Given the description of an element on the screen output the (x, y) to click on. 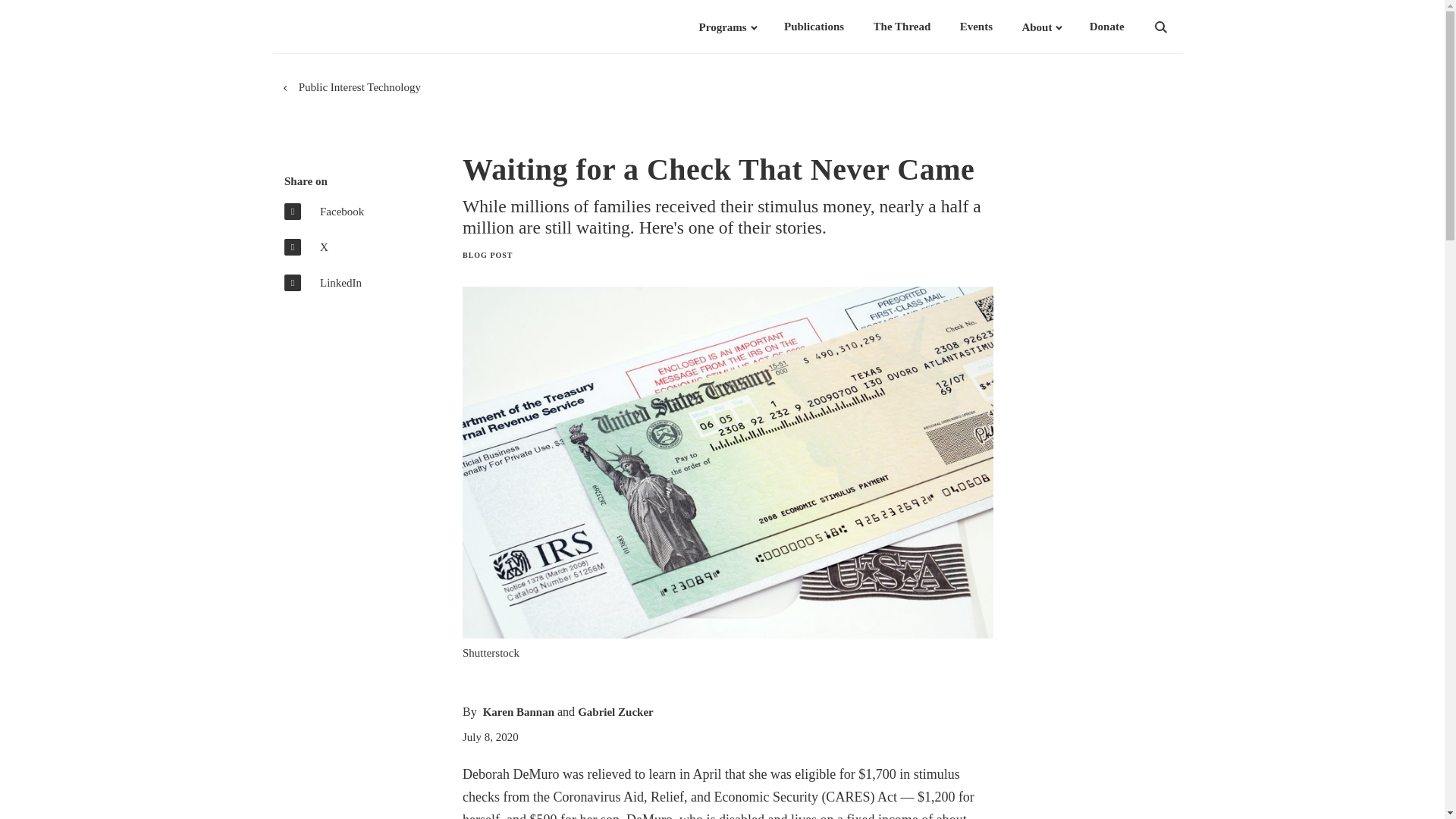
Programs (722, 26)
Search (1180, 27)
New America (357, 26)
Publications (814, 26)
Public Interest Technology (359, 87)
Search (1180, 27)
The Thread (902, 26)
Search (1180, 27)
